Given the description of an element on the screen output the (x, y) to click on. 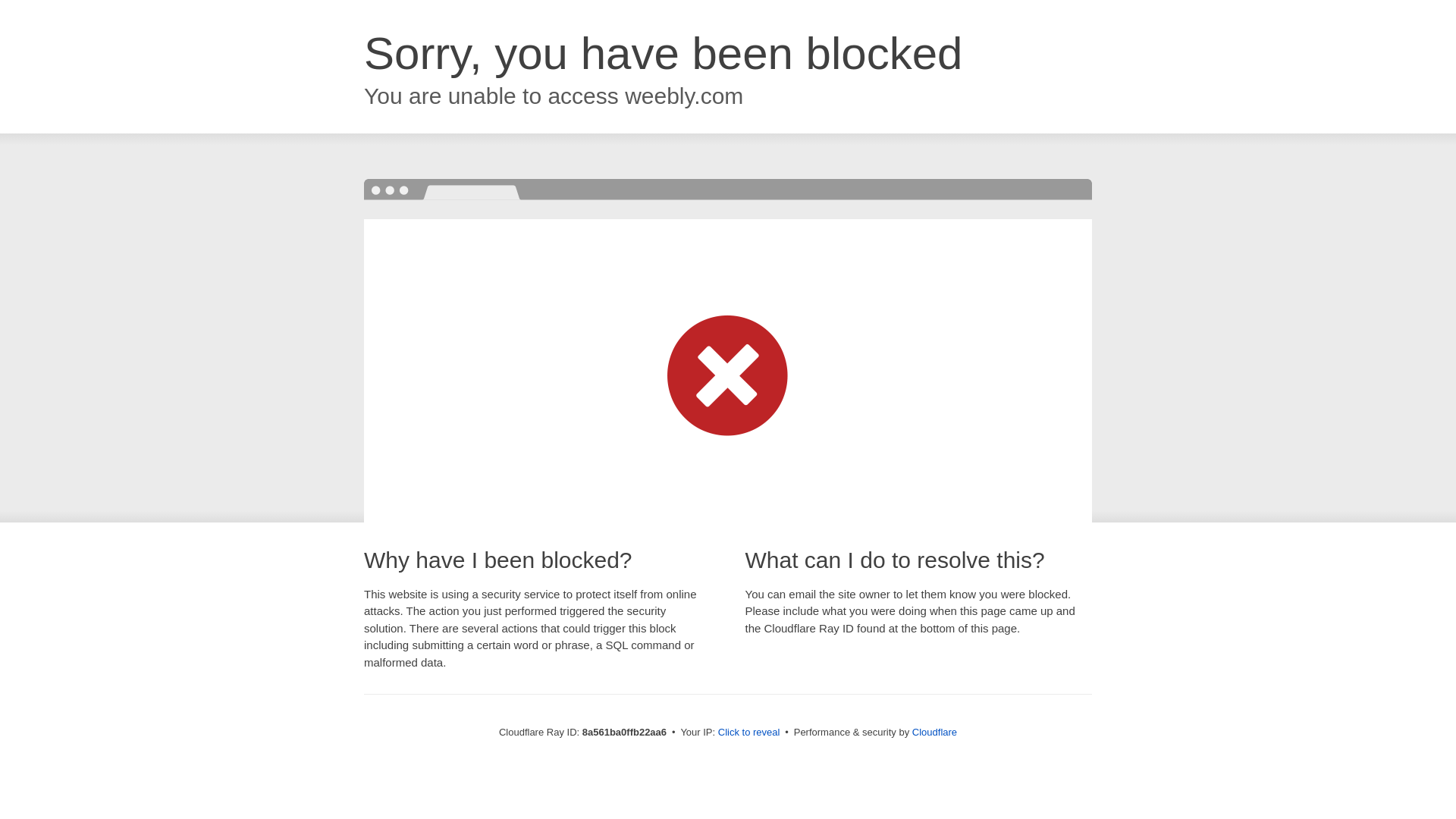
Cloudflare (934, 731)
Click to reveal (748, 732)
